Given the description of an element on the screen output the (x, y) to click on. 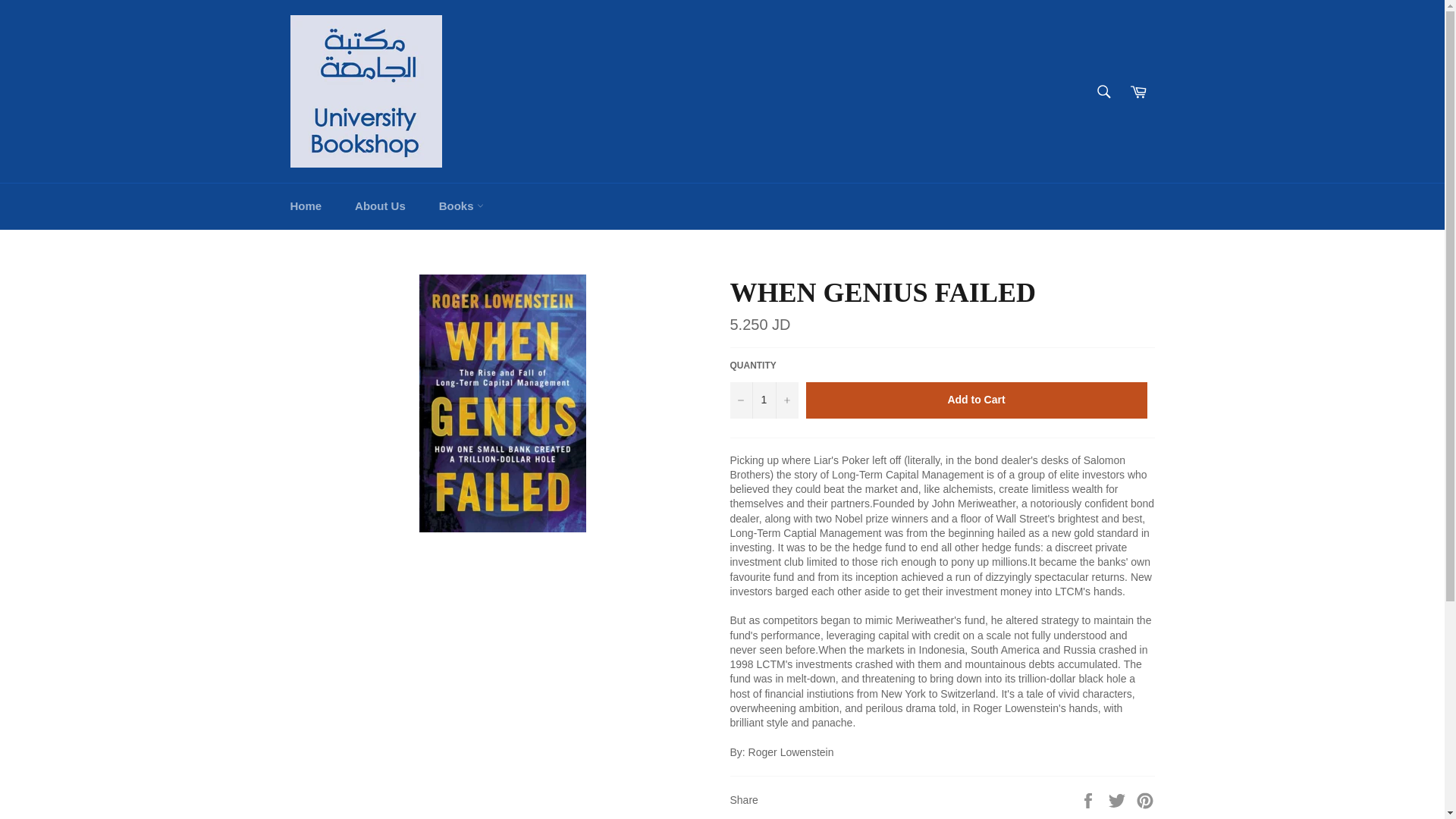
Tweet on Twitter (1118, 799)
Pin on Pinterest (1144, 799)
Share on Facebook (1089, 799)
1 (763, 400)
